Given the description of an element on the screen output the (x, y) to click on. 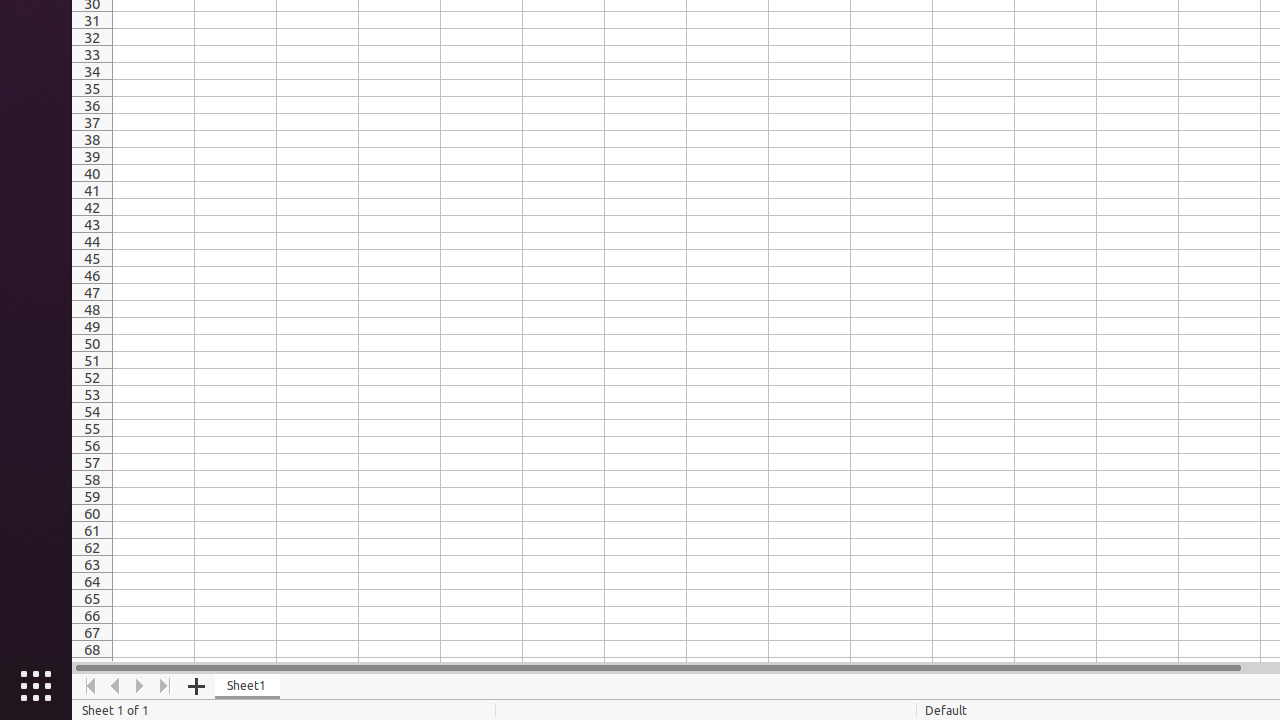
Move Left Element type: push-button (115, 686)
